Given the description of an element on the screen output the (x, y) to click on. 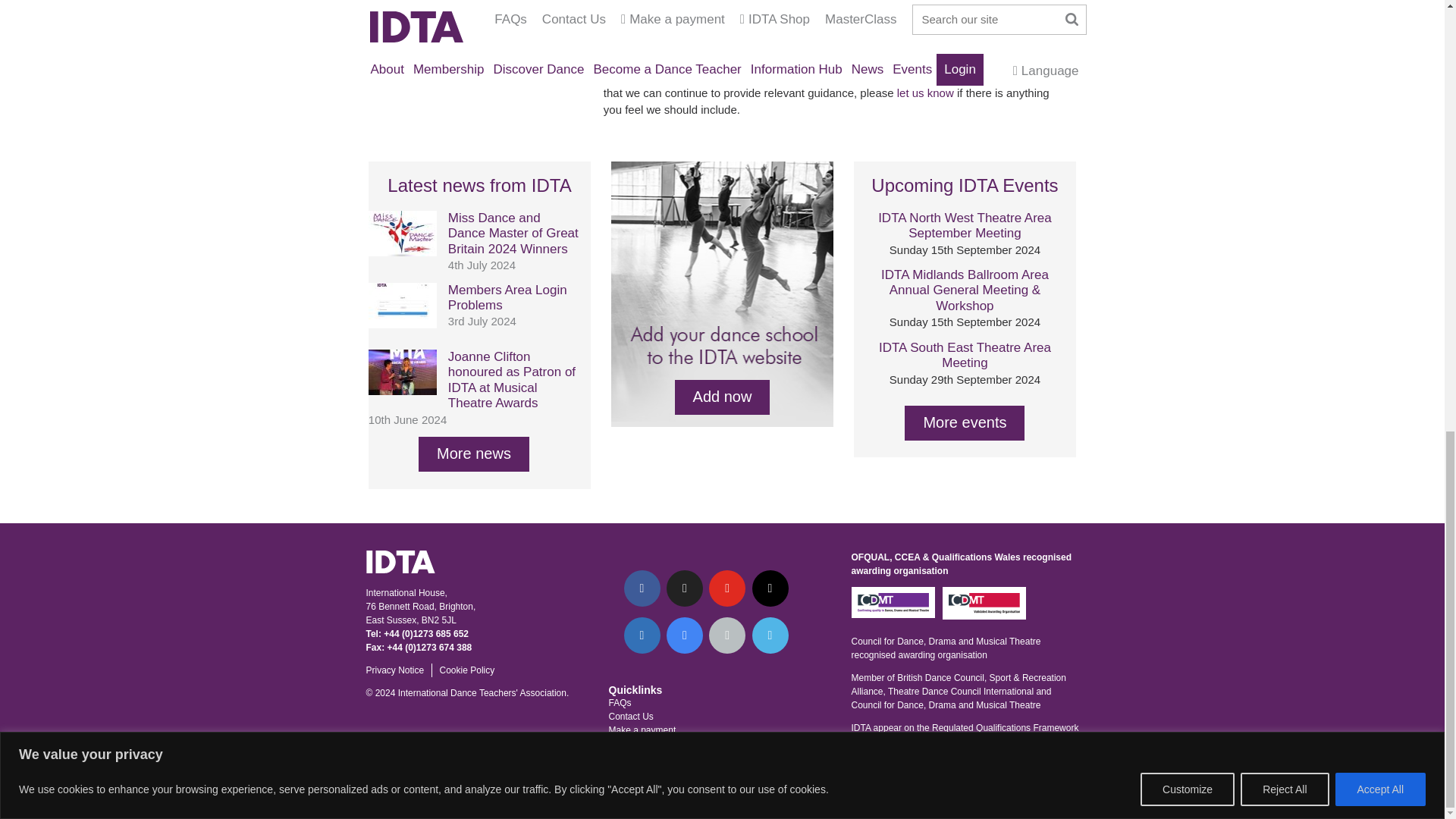
Members Area Login Problems (402, 323)
Facebook (641, 588)
YouTube (727, 588)
Miss Dance and Dance Master of Great Britain 2024 Winners (402, 251)
Linkedin (641, 635)
Instagram (770, 588)
